Given the description of an element on the screen output the (x, y) to click on. 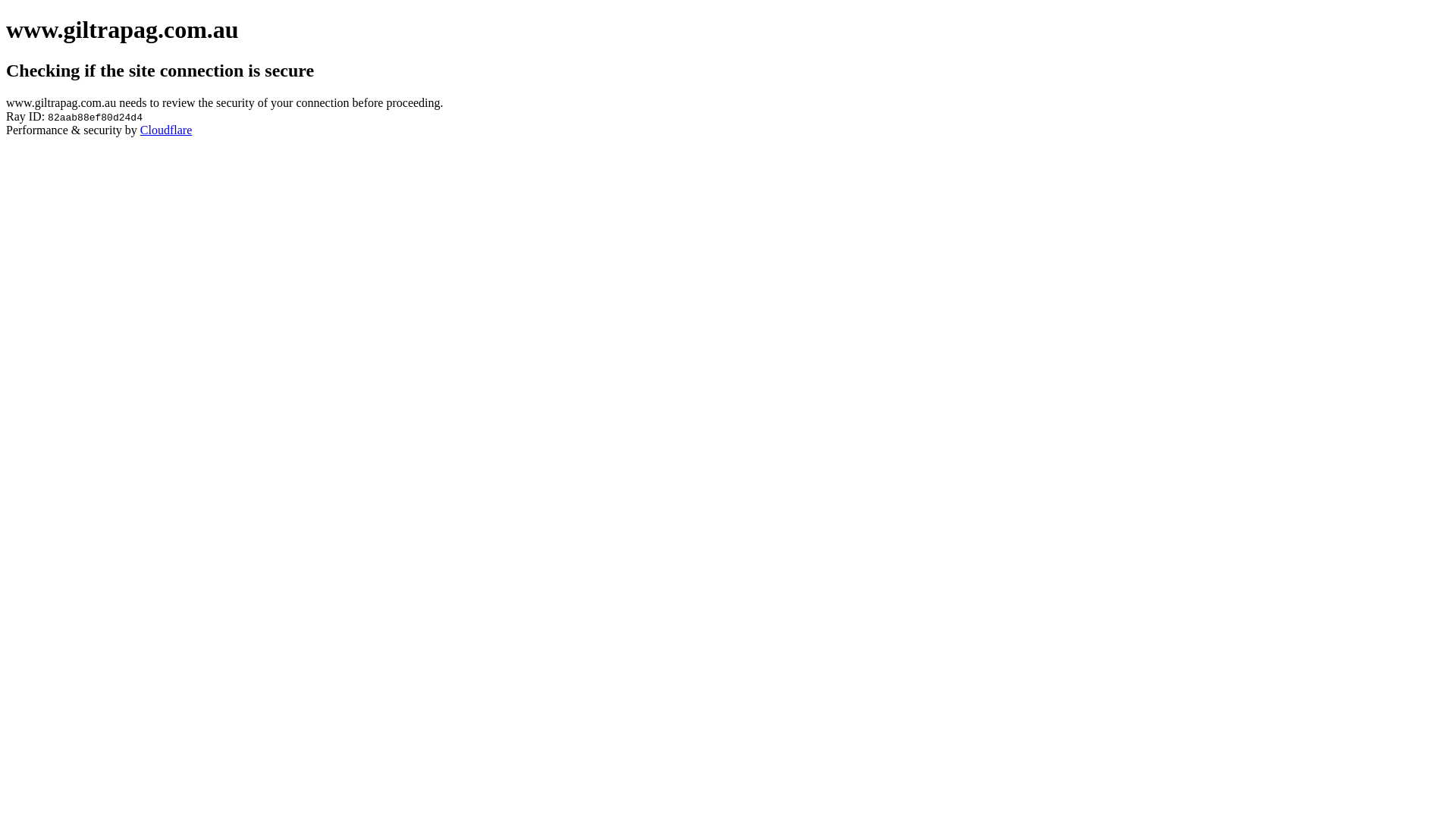
Cloudflare Element type: text (165, 129)
